Given the description of an element on the screen output the (x, y) to click on. 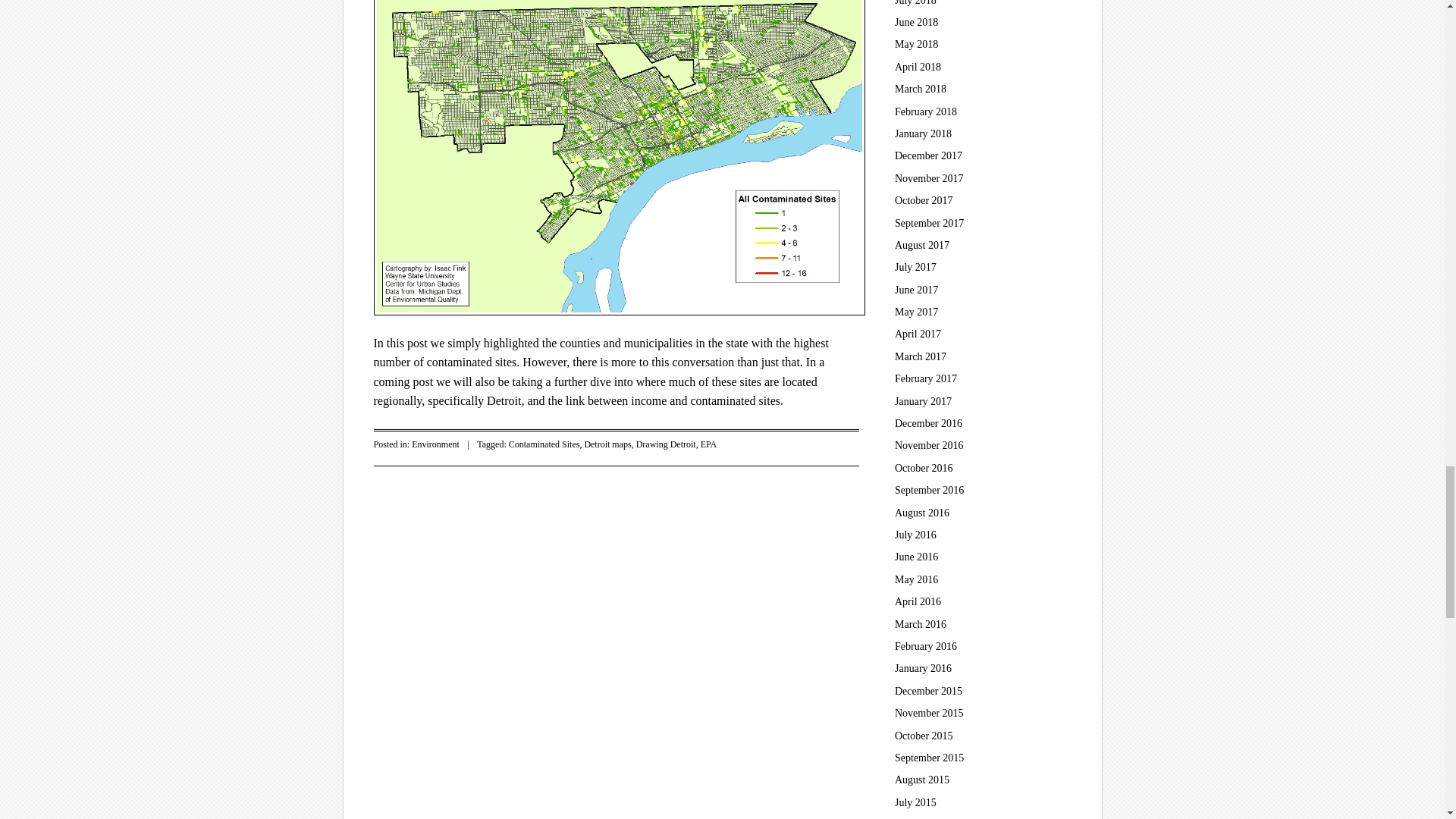
Environment (436, 443)
Detroit maps (606, 443)
Drawing Detroit (665, 443)
EPA (708, 443)
Contaminated Sites (543, 443)
